Given the description of an element on the screen output the (x, y) to click on. 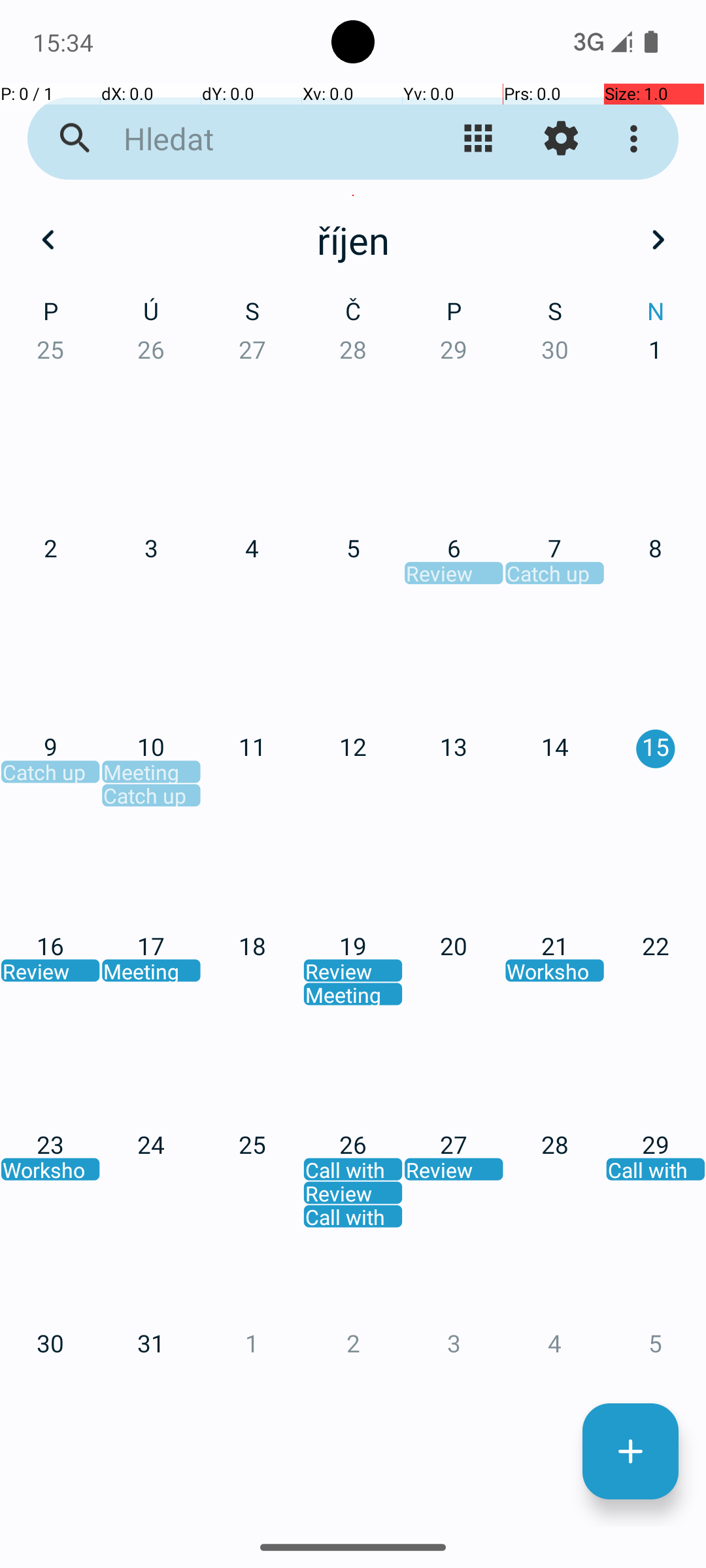
Hledat Element type: android.widget.EditText (252, 138)
Změnit zobrazení Element type: android.widget.Button (477, 138)
Nastavení Element type: android.widget.Button (560, 138)
Další možnosti Element type: android.widget.ImageView (636, 138)
Nová událost Element type: android.widget.ImageButton (630, 1451)
říjen Element type: android.widget.TextView (352, 239)
